Given the description of an element on the screen output the (x, y) to click on. 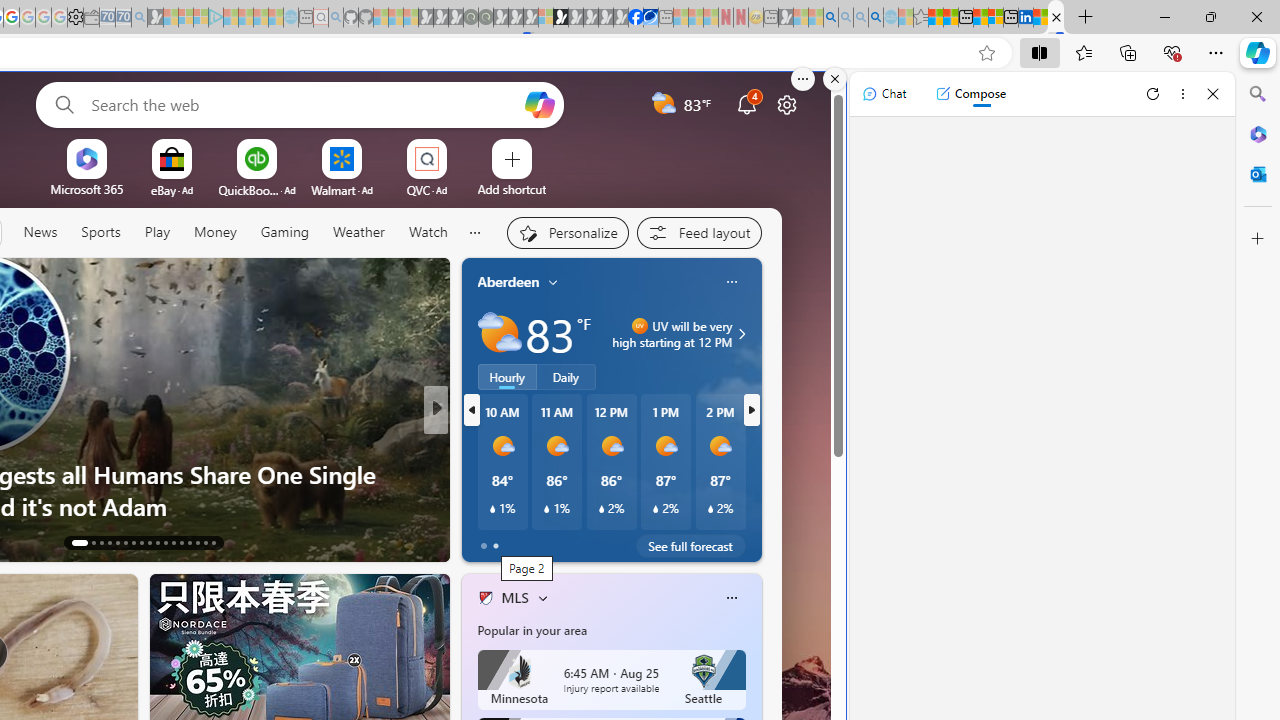
AutomationID: tab-19 (133, 542)
Watch (427, 232)
MLS (514, 597)
Forge of Empires (514, 473)
Show more topics (474, 232)
previous (471, 409)
Personalize your feed" (566, 232)
AutomationID: tab-23 (165, 542)
76 Like (487, 541)
15 Times Snakes Messed With The Wrong Opponent (758, 506)
What If (477, 473)
AutomationID: tab-25 (180, 542)
